Given the description of an element on the screen output the (x, y) to click on. 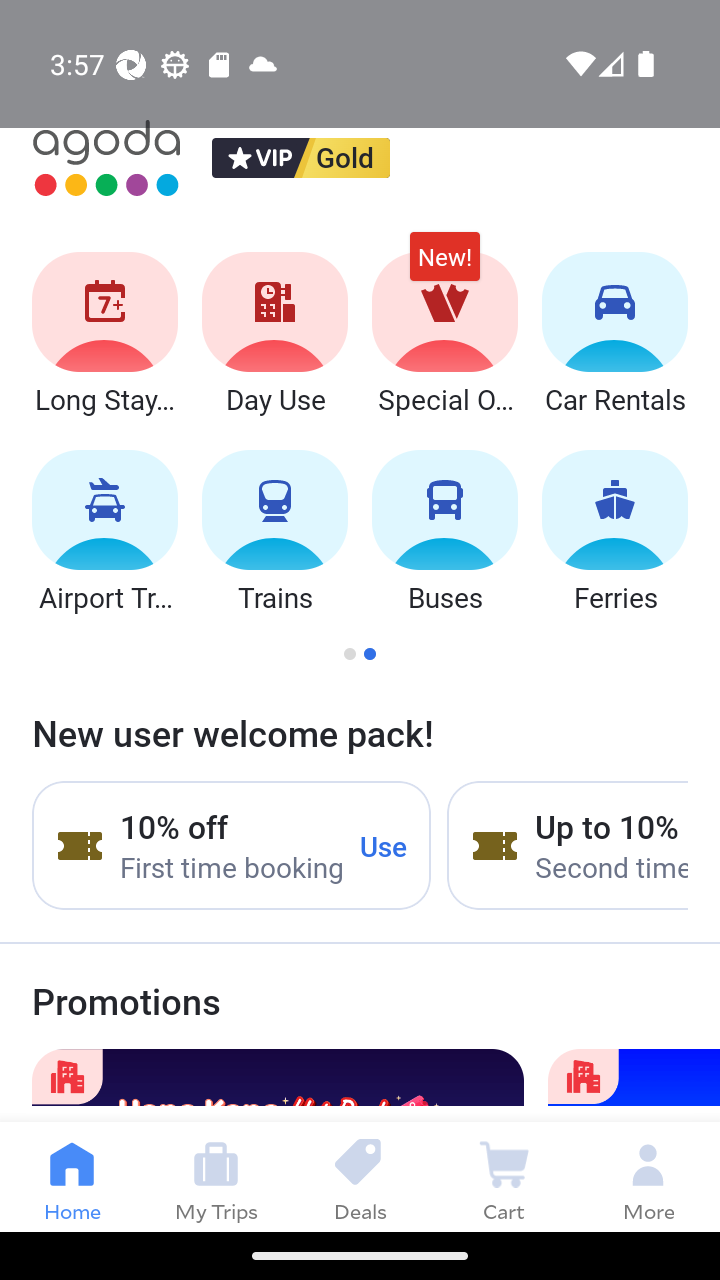
New! (444, 265)
Use (384, 845)
Home (72, 1176)
My Trips (216, 1176)
Deals (360, 1176)
Cart (504, 1176)
More (648, 1176)
